Given the description of an element on the screen output the (x, y) to click on. 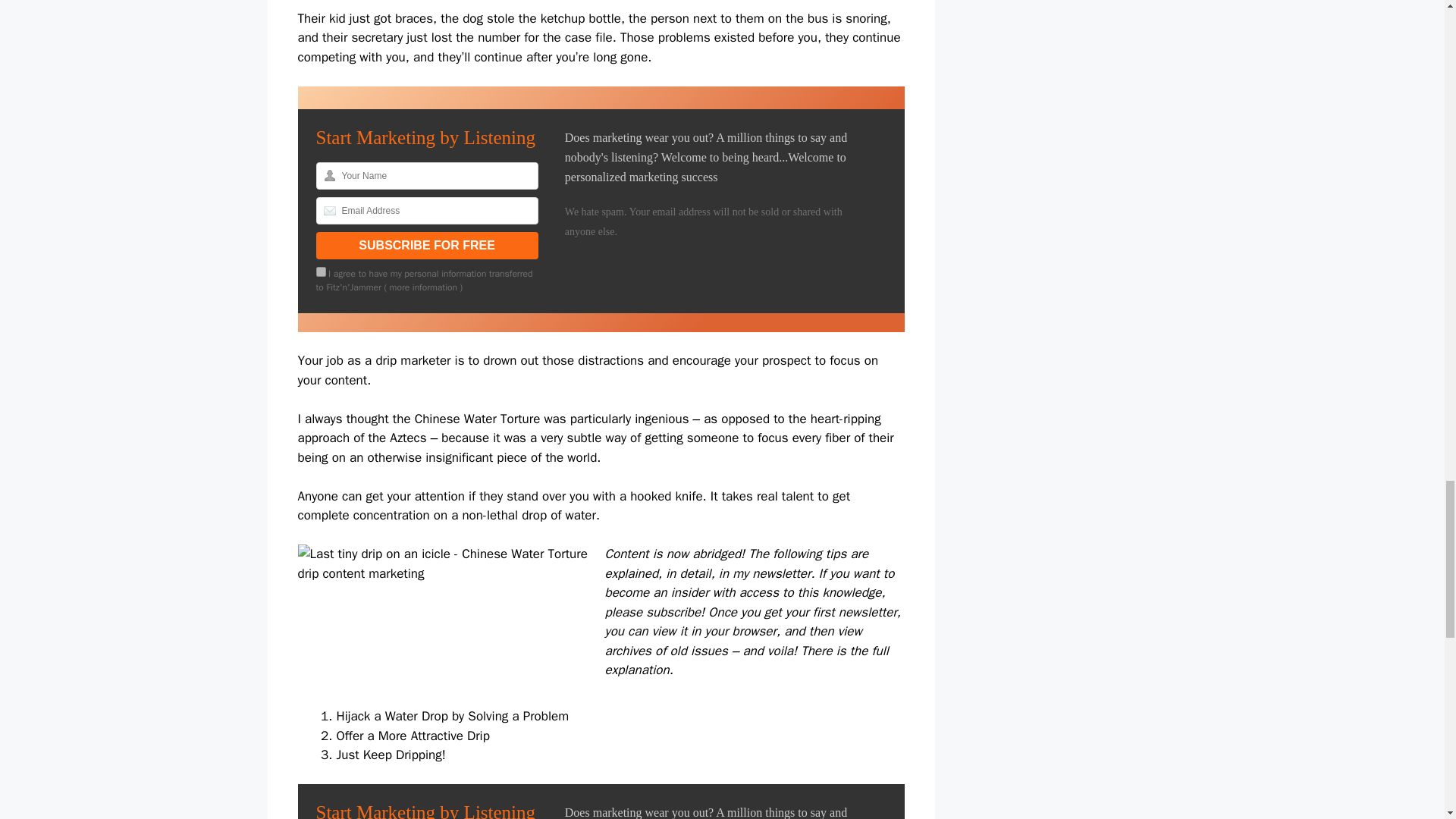
more information (423, 287)
SUBSCRIBE FOR FREE (426, 245)
SUBSCRIBE FOR FREE (426, 245)
on (319, 271)
